Given the description of an element on the screen output the (x, y) to click on. 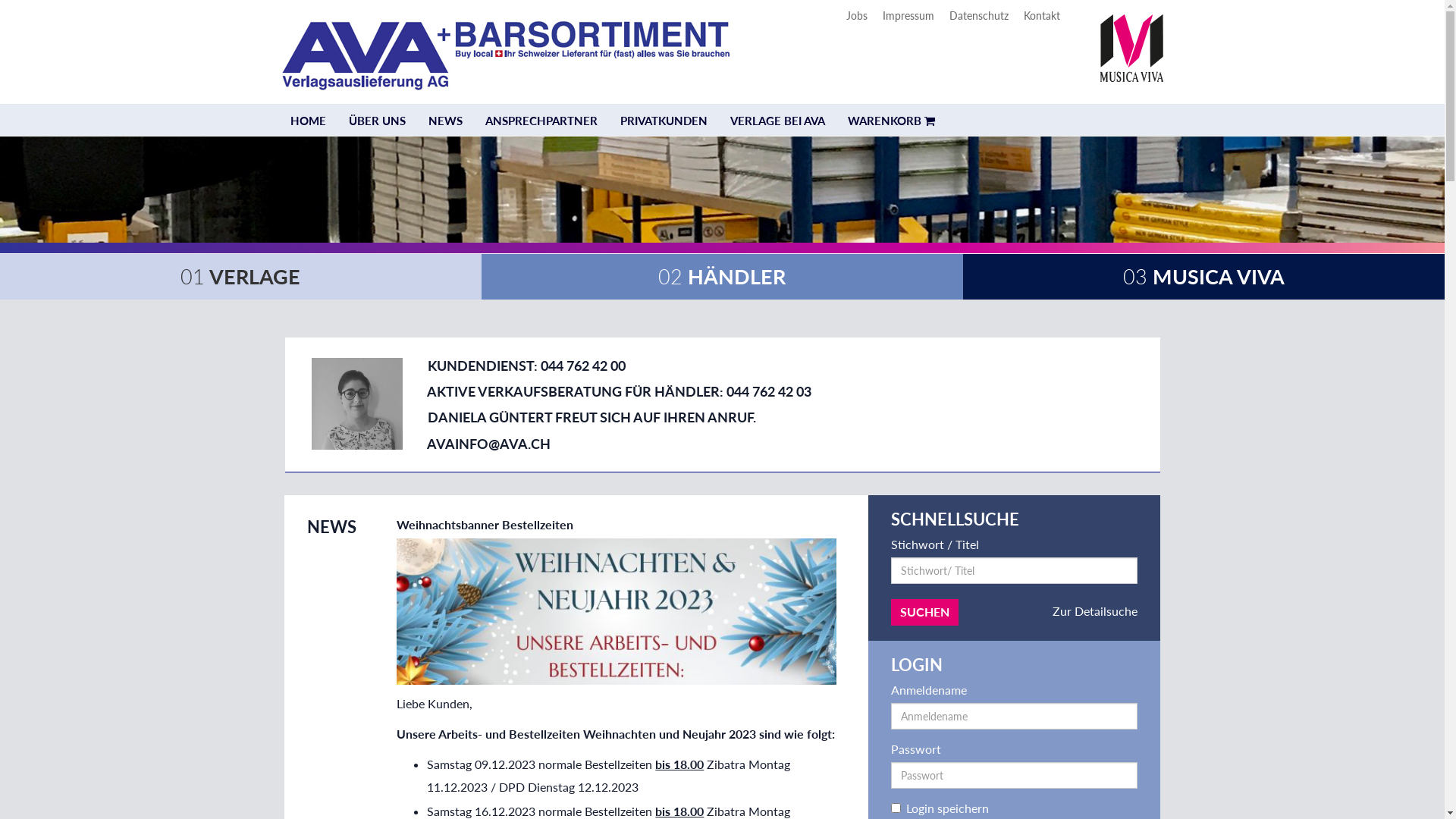
PRIVATKUNDEN Element type: text (663, 120)
VERLAGE BEI AVA Element type: text (777, 120)
03 MUSICA VIVA Element type: text (1203, 275)
01 VERLAGE Element type: text (240, 275)
SUCHEN Element type: text (924, 612)
Jobs Element type: text (856, 15)
Kontakt Element type: text (1041, 15)
HOME Element type: text (308, 120)
Datenschutz Element type: text (978, 15)
Zur Detailsuche Element type: text (1094, 611)
ANSPRECHPARTNER Element type: text (540, 120)
WARENKORB Element type: text (890, 120)
Impressum Element type: text (908, 15)
NEWS Element type: text (445, 120)
